Given the description of an element on the screen output the (x, y) to click on. 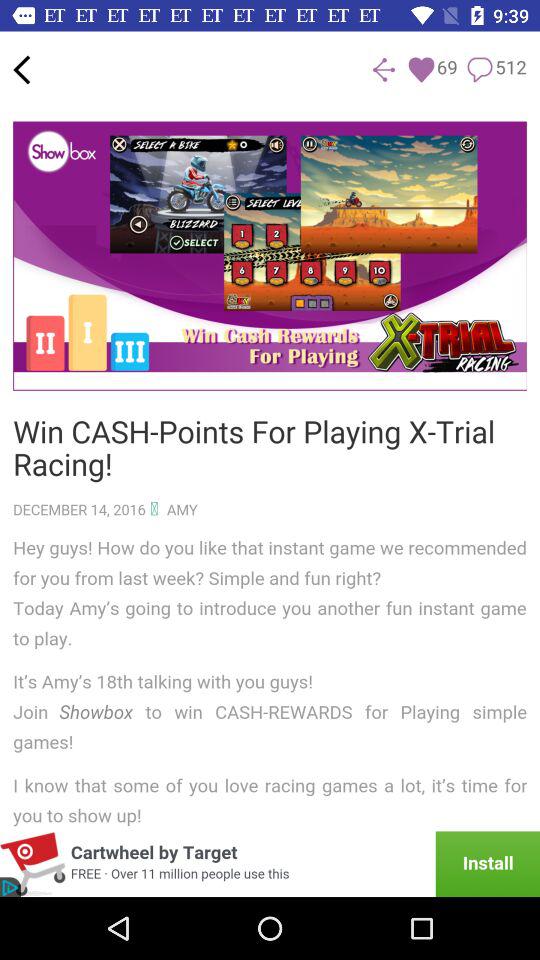
go back a page (21, 69)
